Given the description of an element on the screen output the (x, y) to click on. 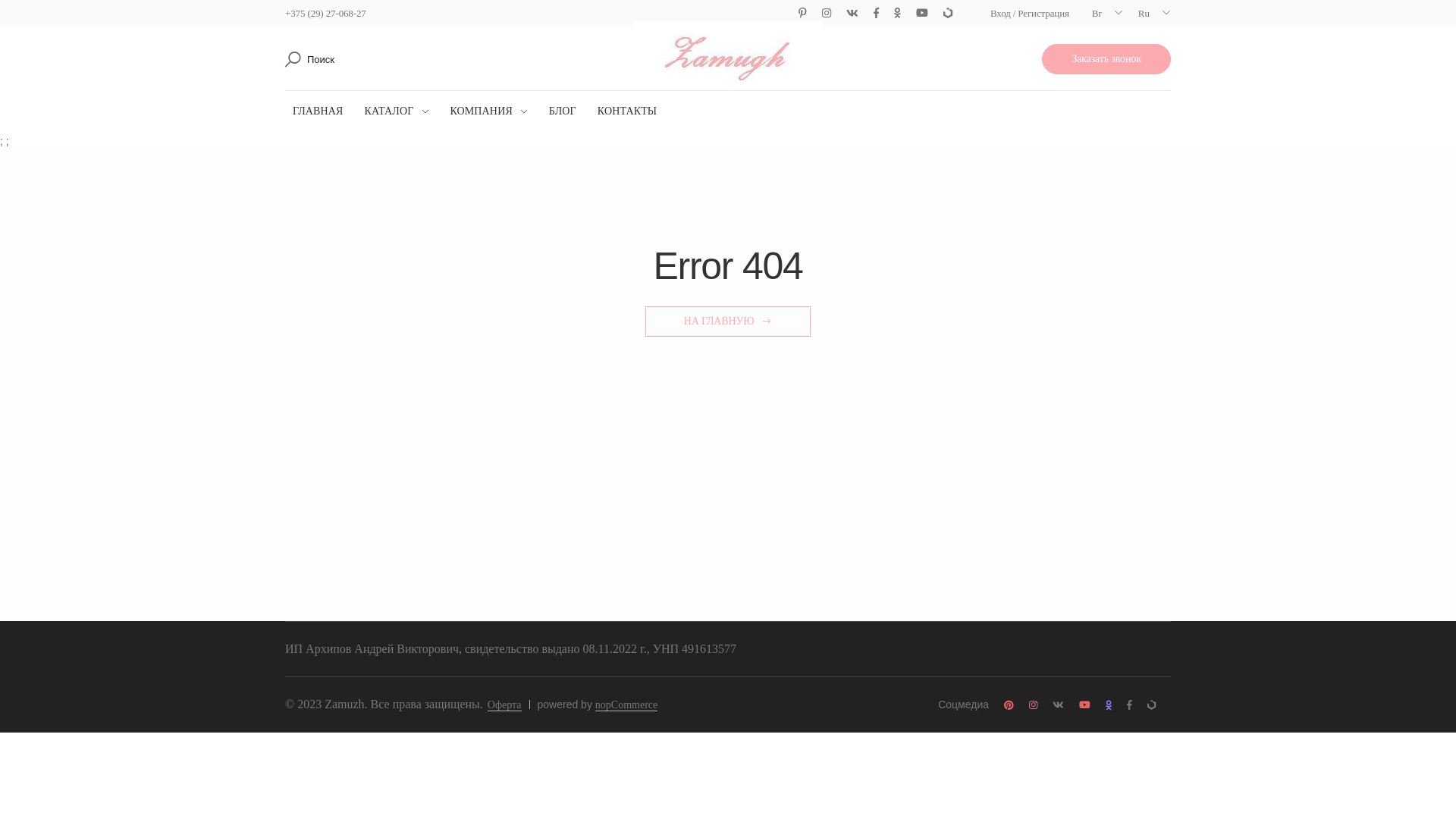
Br Element type: text (1107, 13)
TikTok Element type: hover (947, 12)
TikTok Element type: hover (1151, 704)
Odnoklassniki Element type: hover (1108, 704)
Pinterest Element type: hover (1008, 704)
Ru Element type: text (1154, 13)
nopCommerce Element type: text (626, 704)
Vk Element type: hover (852, 12)
Facebook Element type: hover (1129, 704)
Instagram Element type: hover (826, 12)
Youtube Element type: hover (1084, 704)
Youtube Element type: hover (922, 12)
Instagram Element type: hover (1033, 704)
Facebook Element type: hover (875, 12)
Odnoklassniki Element type: hover (897, 12)
+375 (29) 27-068-27 Element type: text (325, 13)
Pinterest Element type: hover (802, 12)
Vk Element type: hover (1057, 704)
